Given the description of an element on the screen output the (x, y) to click on. 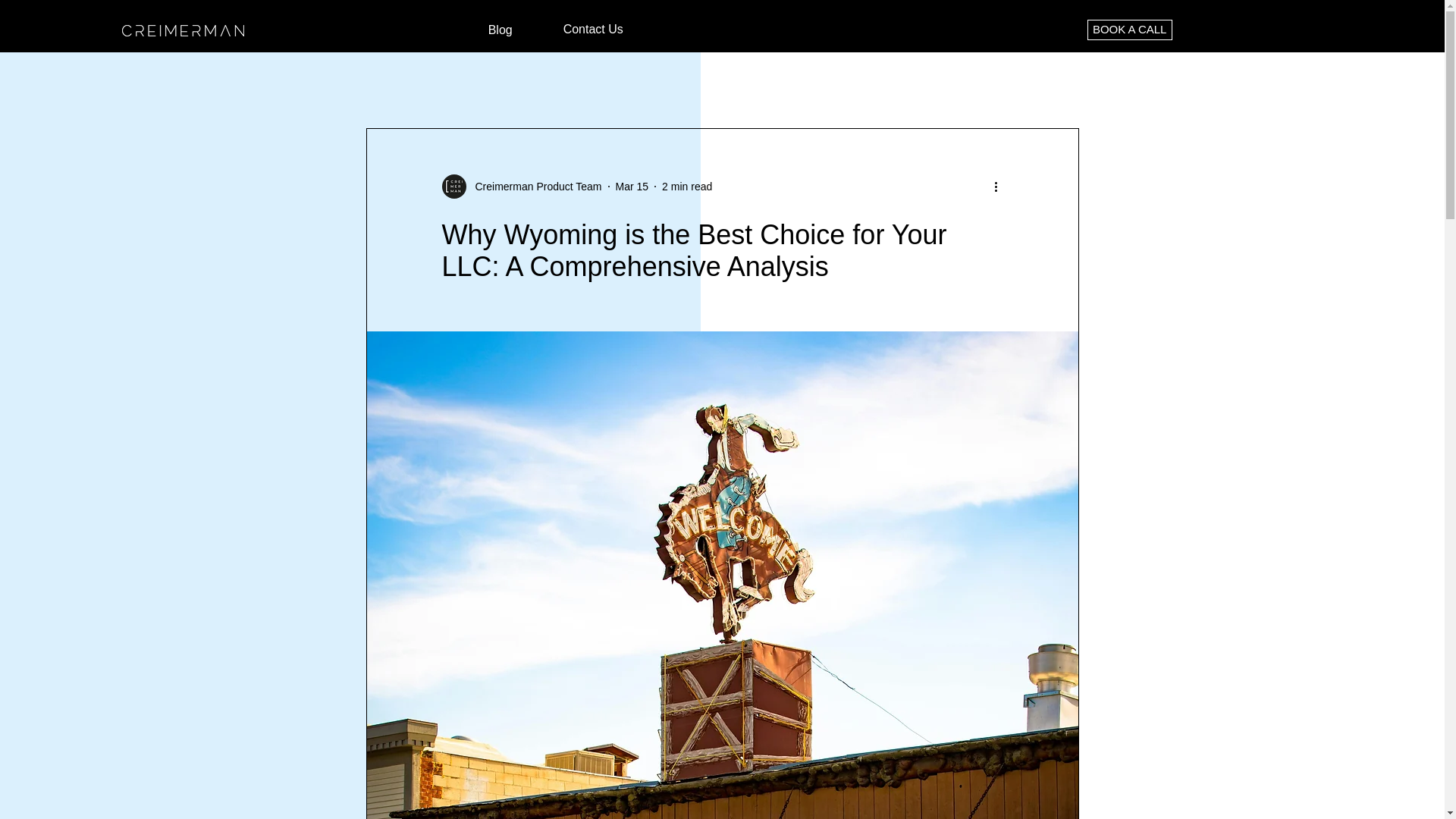
Blog (499, 30)
2 min read (686, 186)
BOOK A CALL (1129, 29)
Creimerman Product Team (533, 186)
Mar 15 (632, 186)
Contact Us (593, 30)
